Given the description of an element on the screen output the (x, y) to click on. 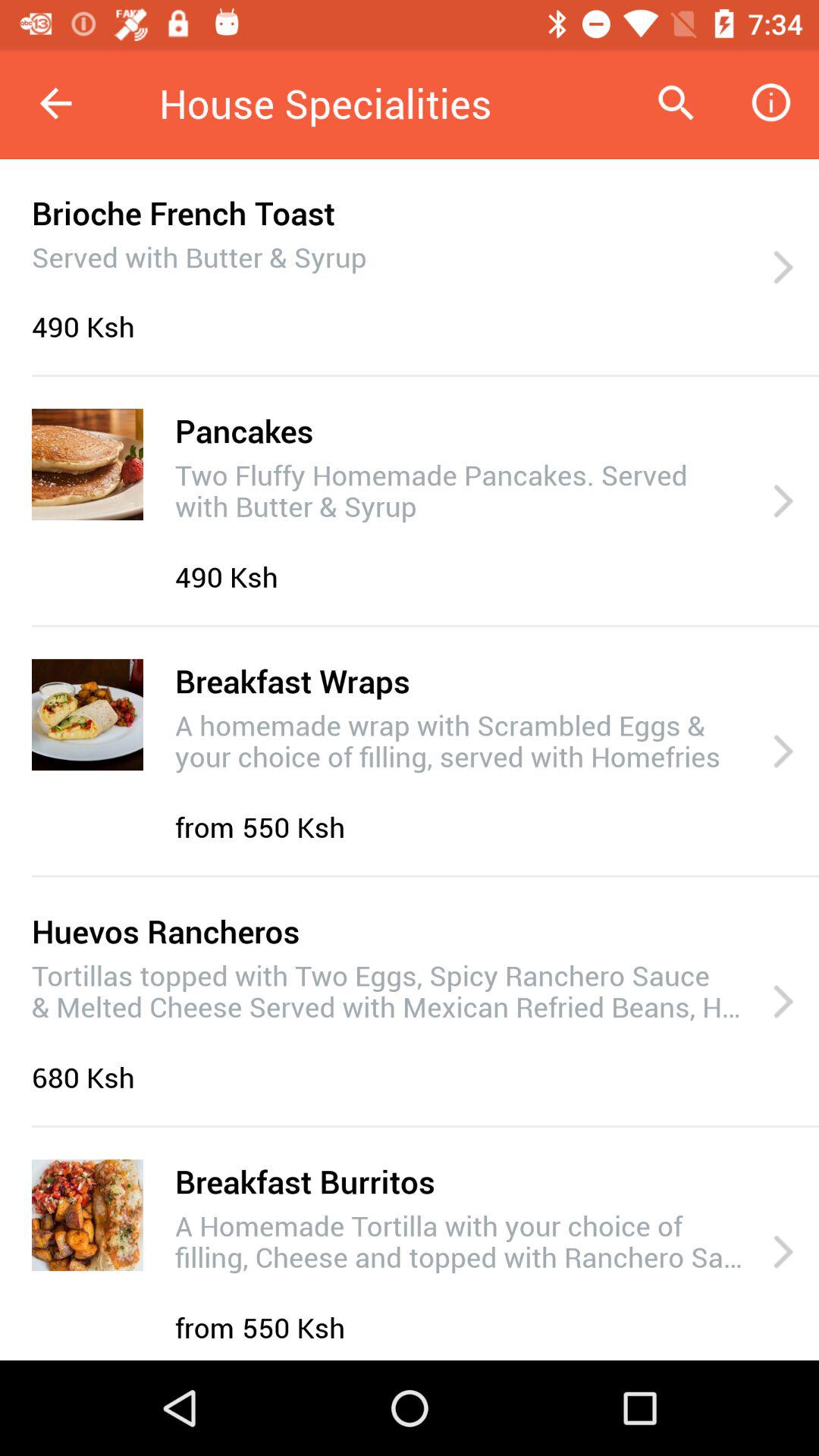
select the icon above the a homemade wrap (292, 680)
